Given the description of an element on the screen output the (x, y) to click on. 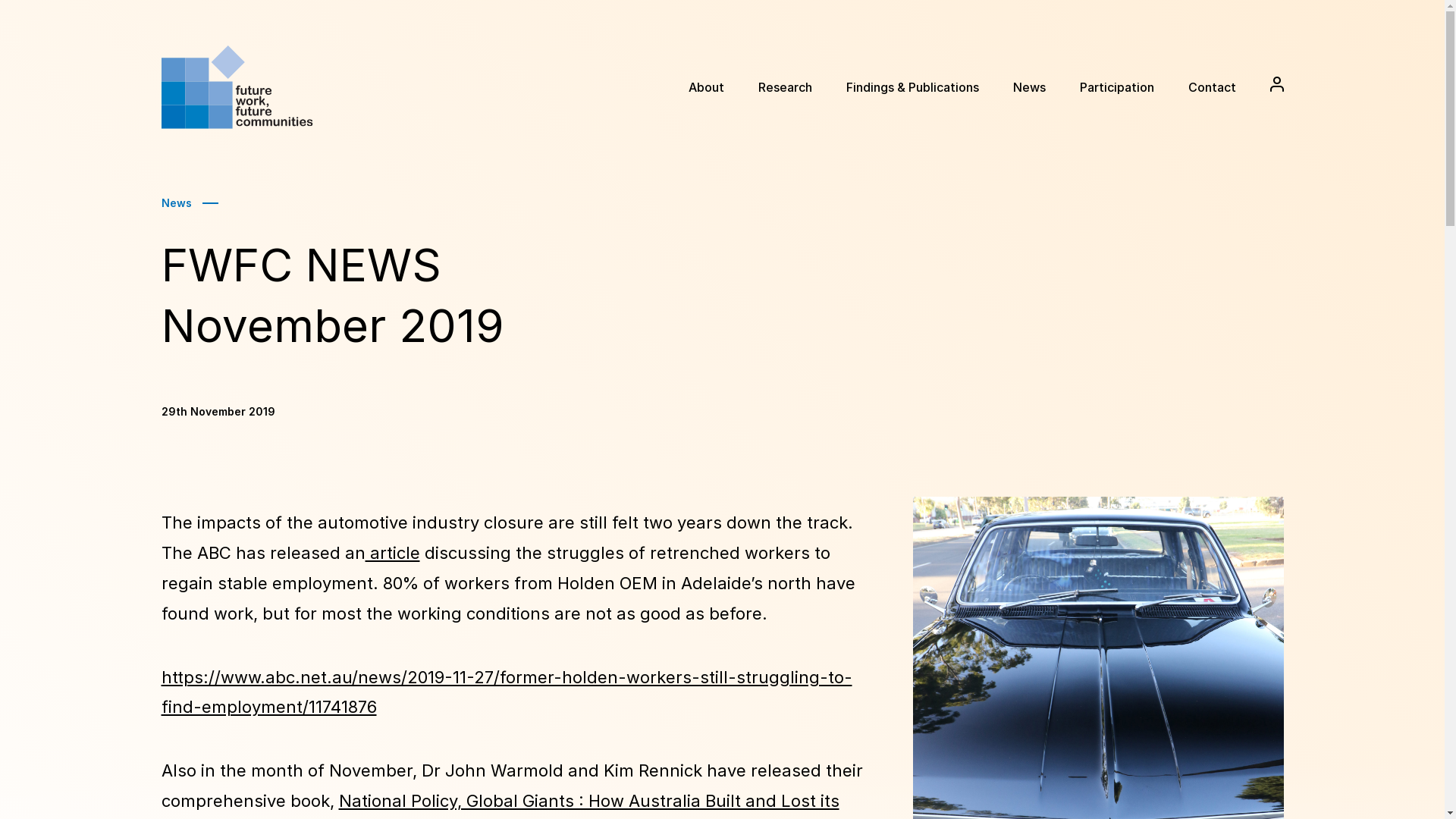
About Element type: text (706, 87)
Participation Element type: text (1116, 87)
article Element type: text (392, 552)
Login Element type: text (1276, 83)
News Element type: text (1029, 87)
Findings & Publications Element type: text (912, 87)
Contact Element type: text (1211, 87)
News Element type: text (175, 202)
Research Element type: text (785, 87)
